Given the description of an element on the screen output the (x, y) to click on. 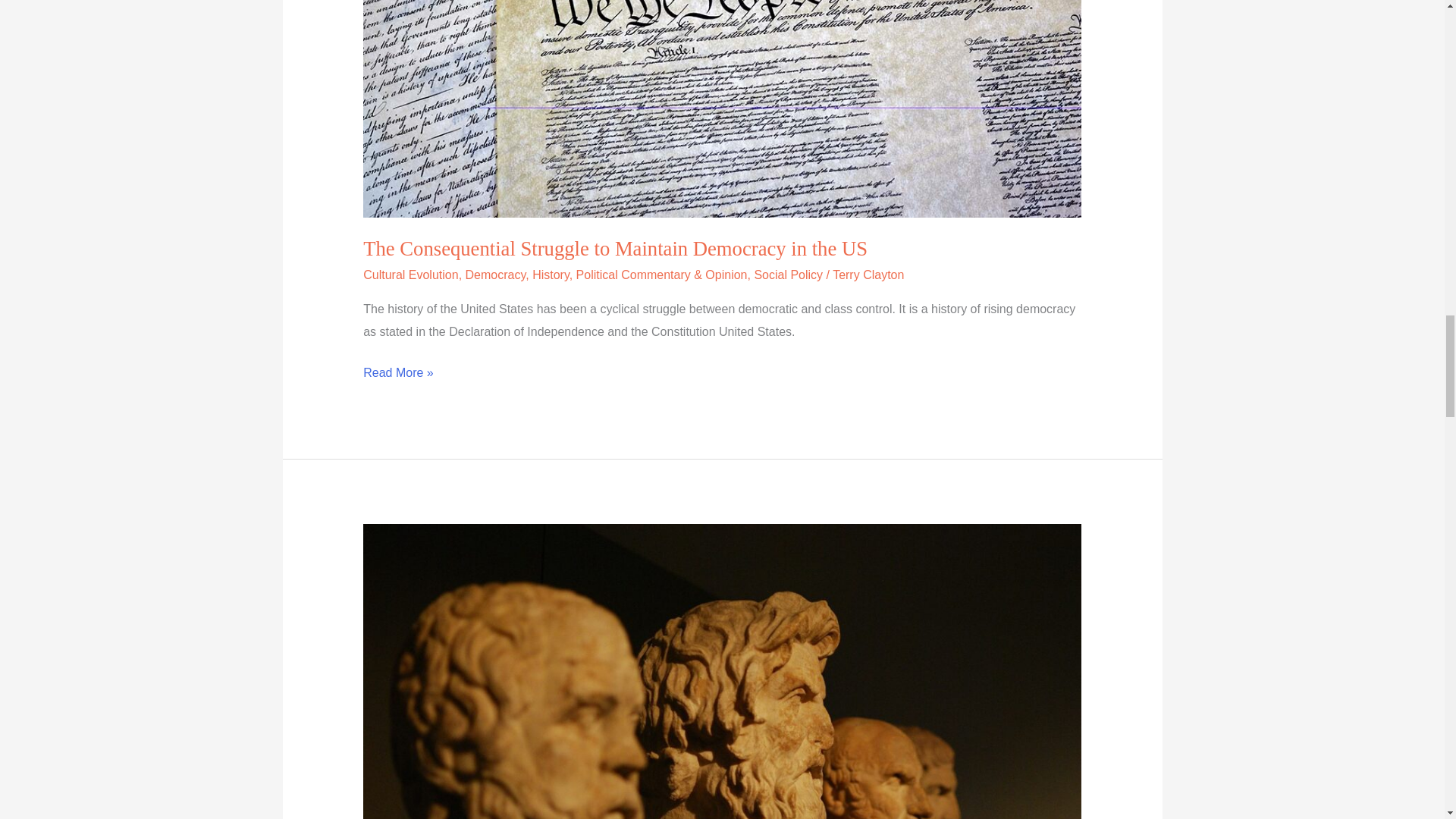
The Consequential Struggle to Maintain Democracy in the US (614, 248)
Cultural Evolution (410, 274)
View all posts by Terry Clayton (868, 274)
